Given the description of an element on the screen output the (x, y) to click on. 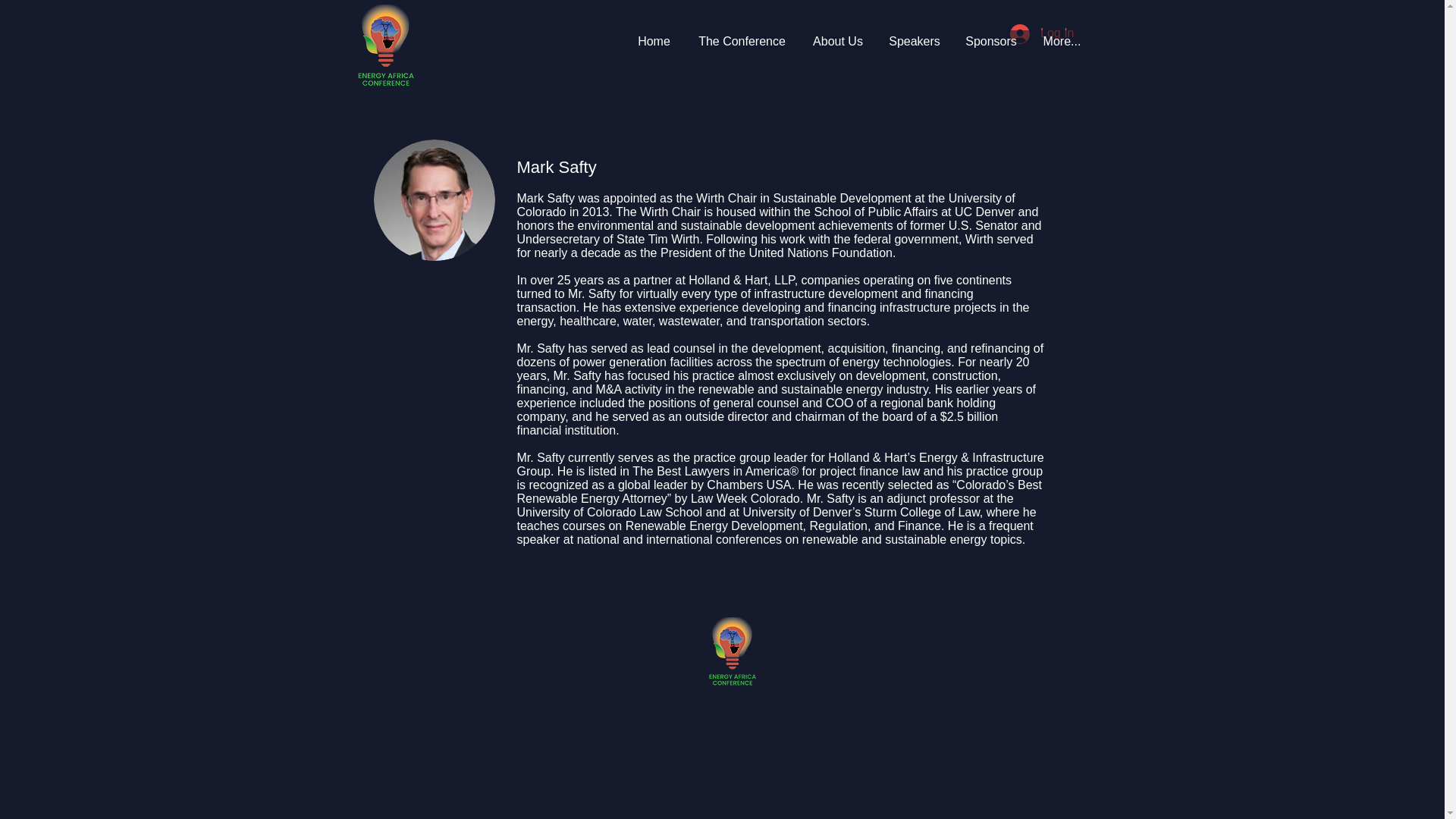
About Us (837, 41)
Home (653, 41)
Sponsors (990, 41)
Speakers (914, 41)
The Conference (740, 41)
Log In (1041, 33)
